Given the description of an element on the screen output the (x, y) to click on. 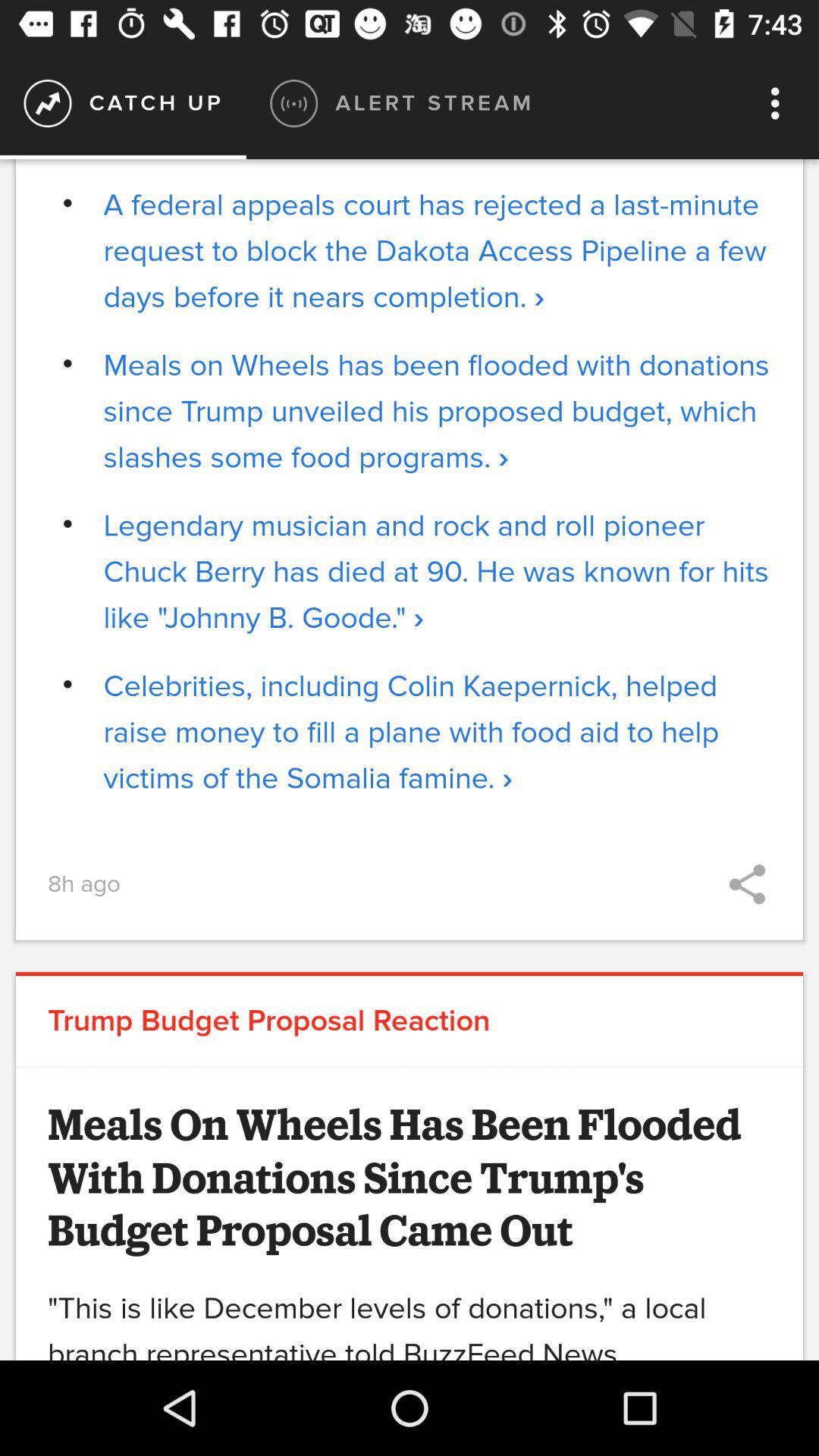
turn off icon below legendary musician and icon (437, 732)
